Given the description of an element on the screen output the (x, y) to click on. 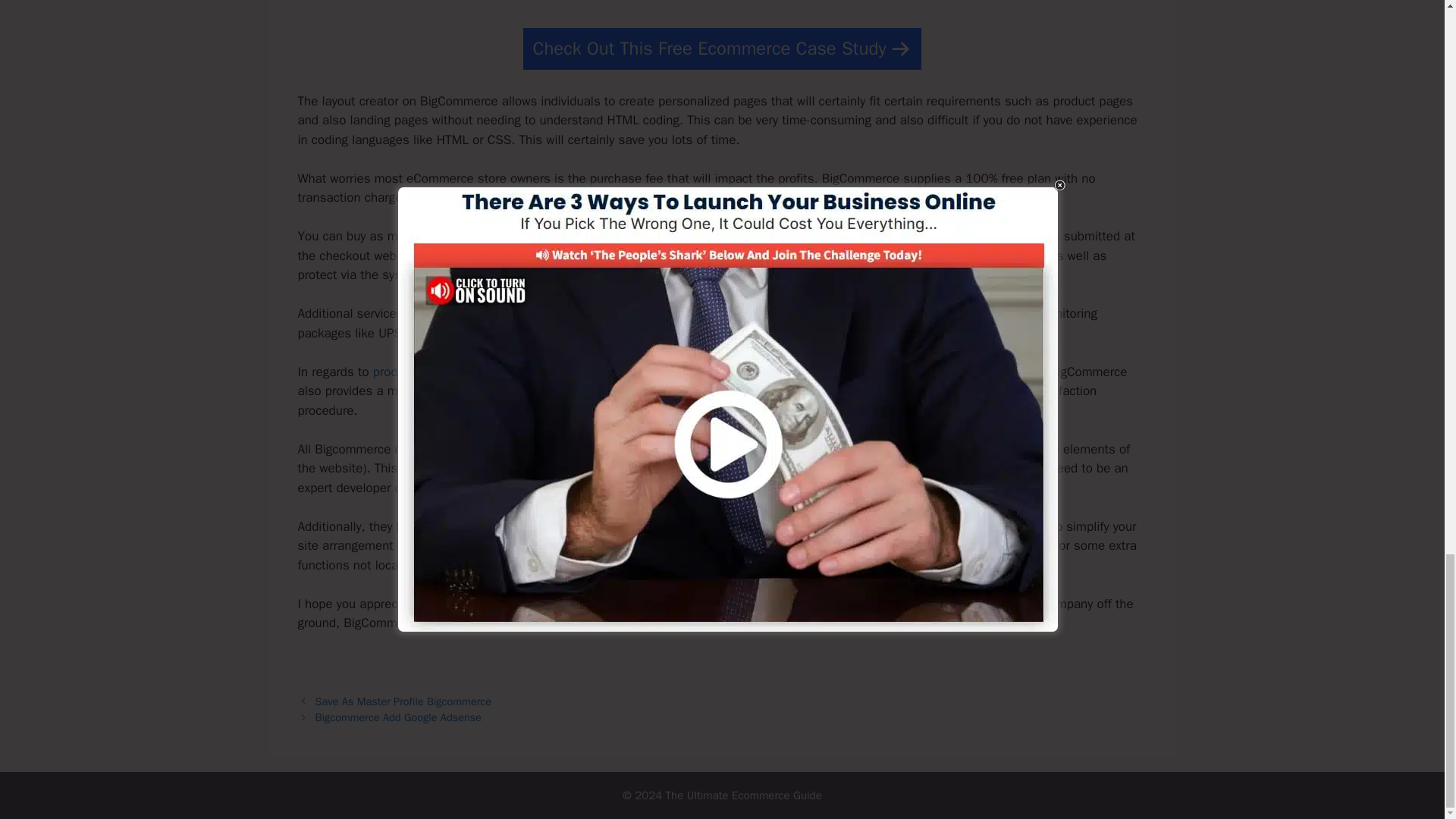
eCommerce system (886, 603)
Bigcommerce Add Google Adsense (398, 716)
blog posts (773, 526)
product variants (417, 371)
knowledgebase (655, 467)
Check Out This Free Ecommerce Case Study (721, 48)
Save As Master Profile Bigcommerce (403, 701)
